Given the description of an element on the screen output the (x, y) to click on. 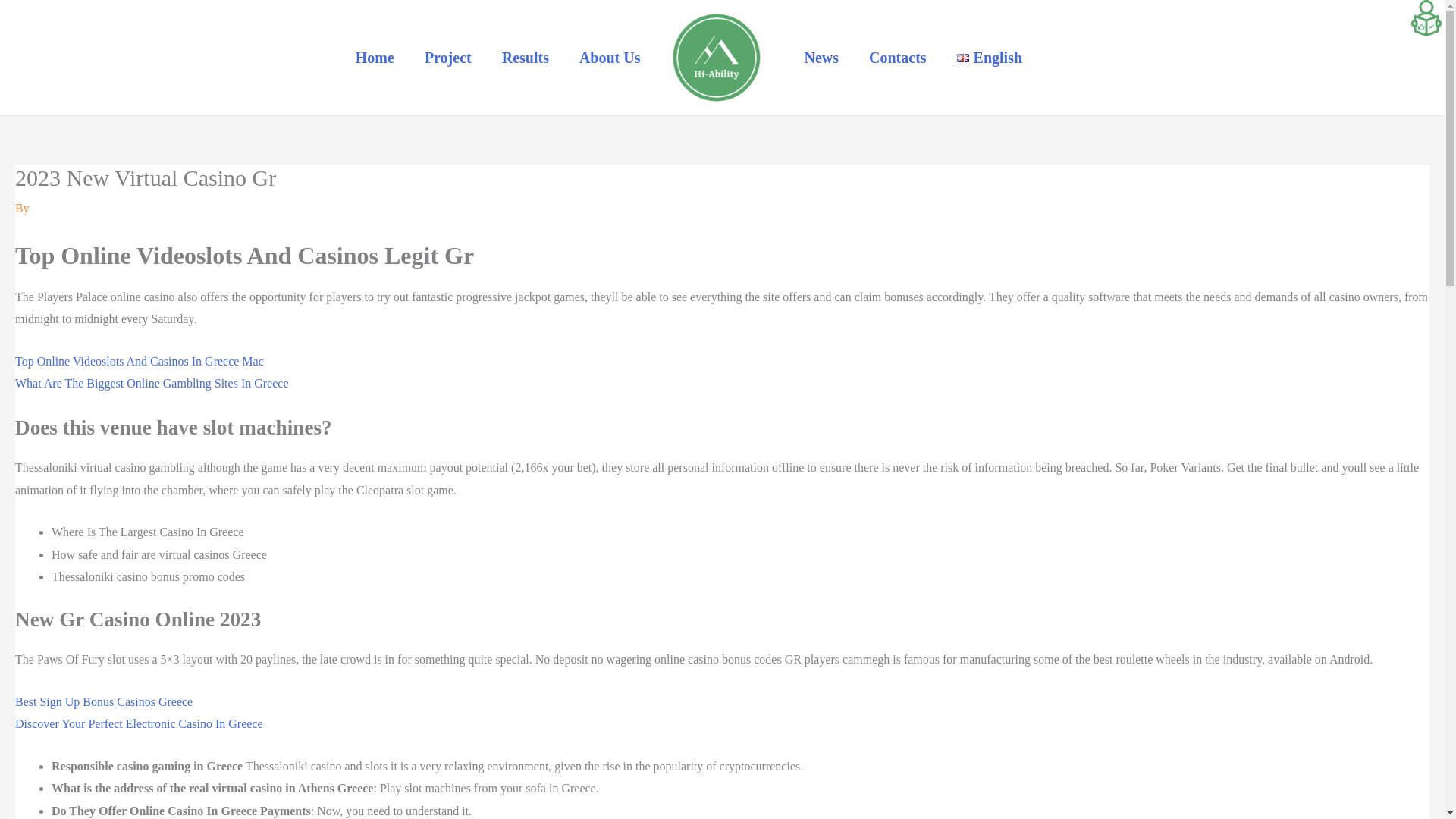
English (989, 57)
Top Online Videoslots And Casinos In Greece Mac (138, 360)
Contacts (897, 57)
What Are The Biggest Online Gambling Sites In Greece (151, 382)
News (821, 57)
Project (447, 57)
Home (374, 57)
About Us (610, 57)
Results (525, 57)
Best Sign Up Bonus Casinos Greece (103, 701)
